Given the description of an element on the screen output the (x, y) to click on. 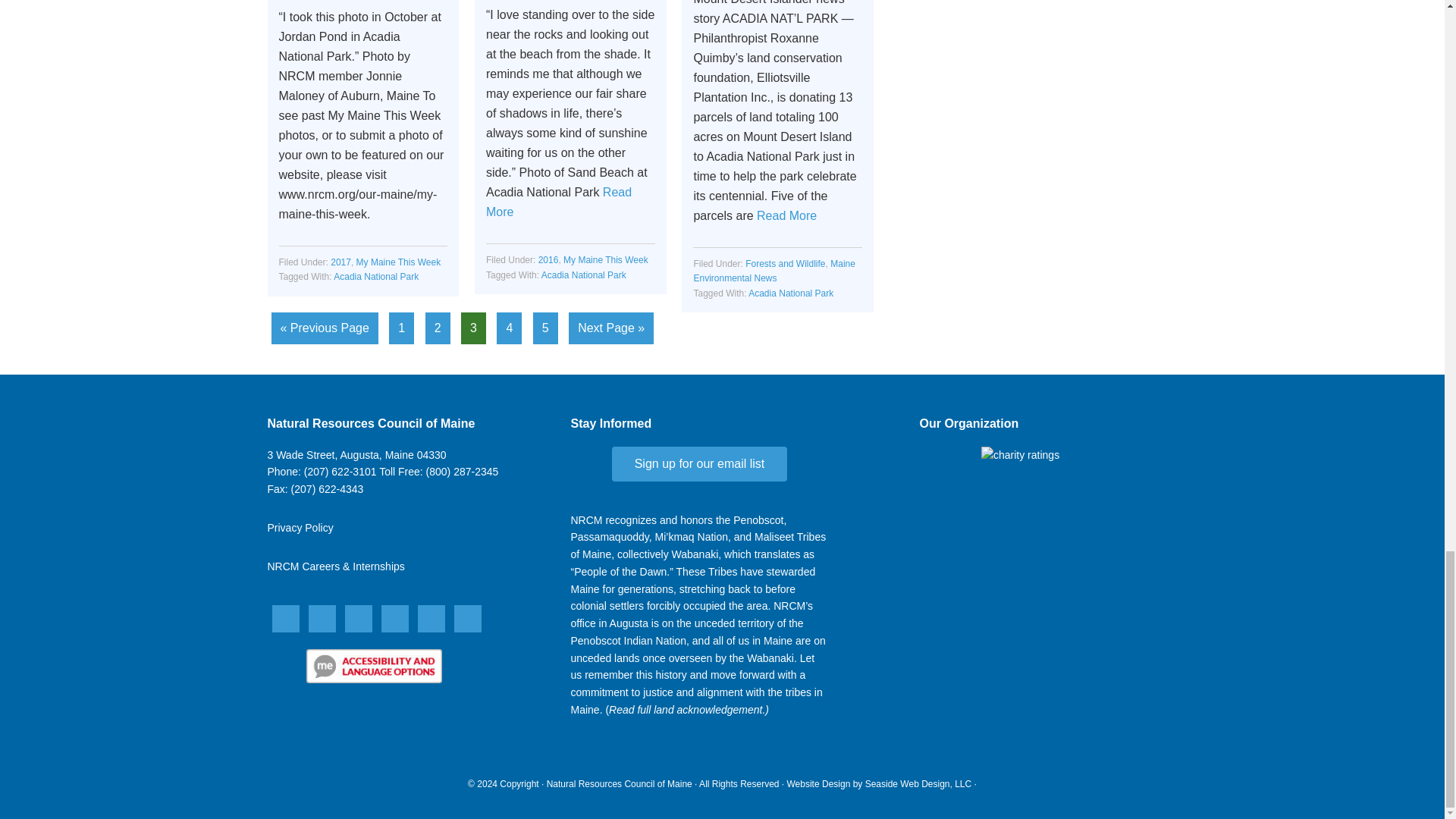
Contact Us (355, 454)
Read More (786, 215)
Read More (558, 201)
